Given the description of an element on the screen output the (x, y) to click on. 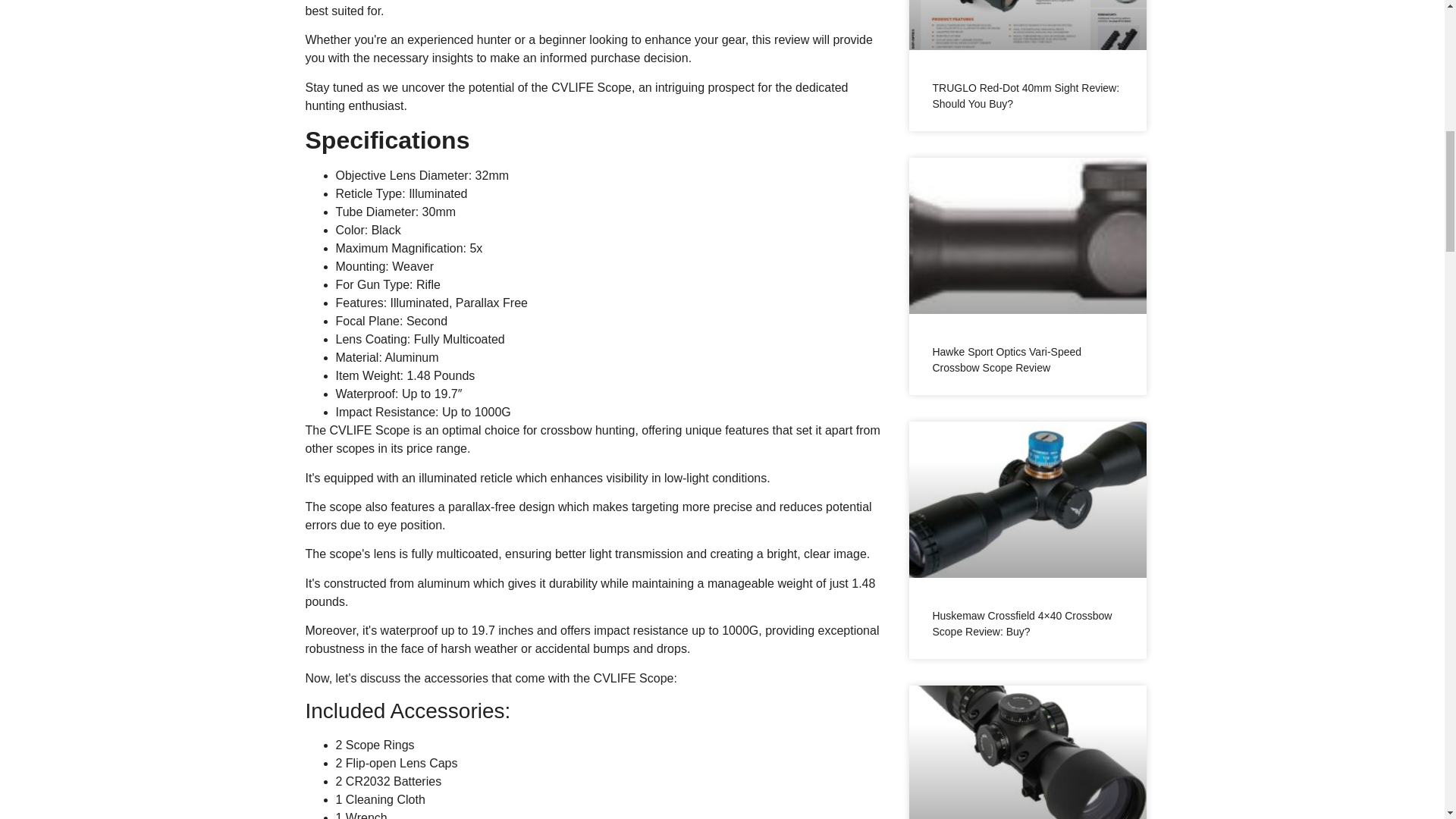
Hawke Sport Optics Vari-Speed Crossbow Scope Review (1006, 359)
TRUGLO Red-Dot 40mm Sight Review: Should You Buy? (1025, 95)
